Given the description of an element on the screen output the (x, y) to click on. 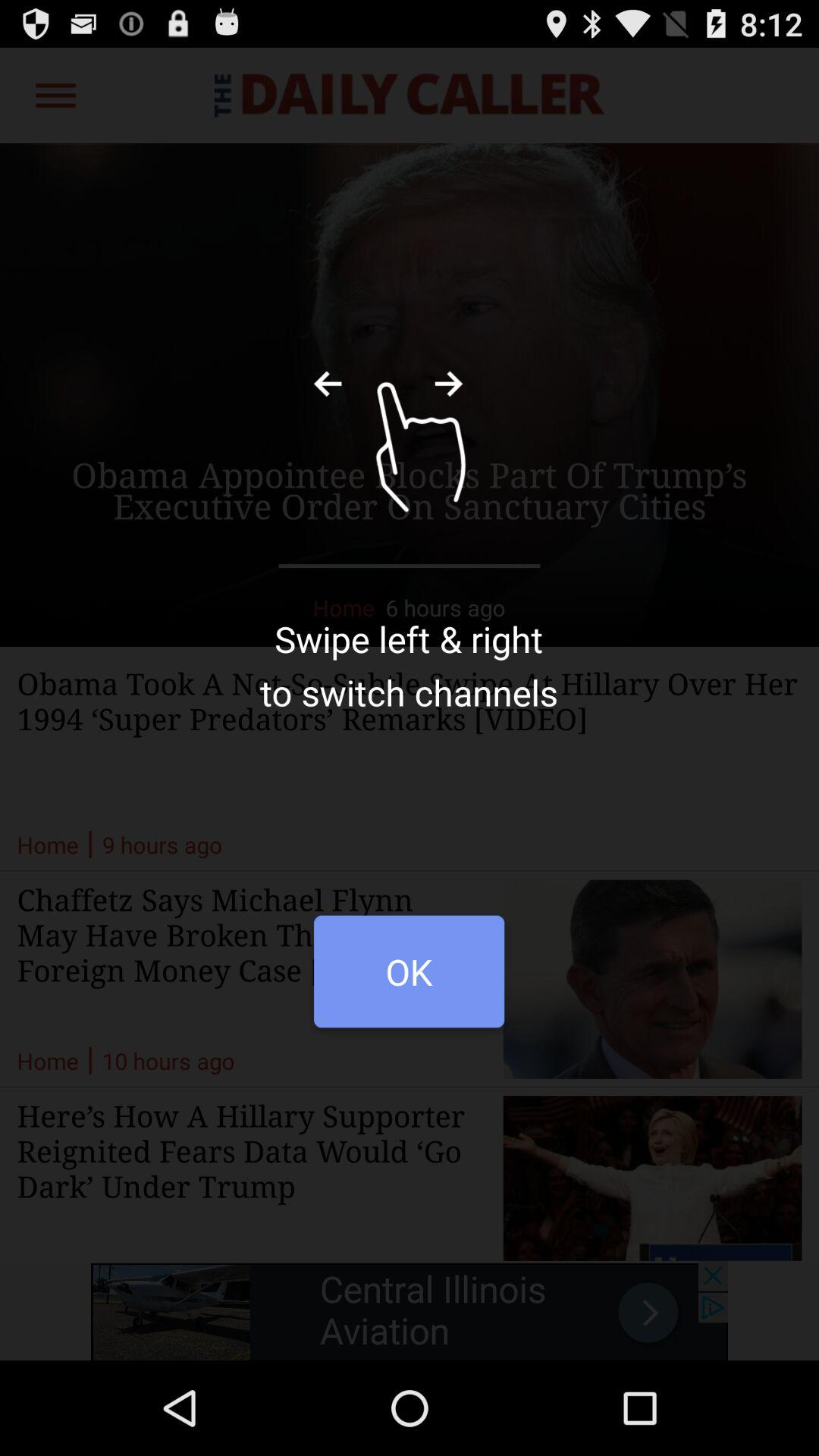
click the item at the bottom (408, 979)
